Given the description of an element on the screen output the (x, y) to click on. 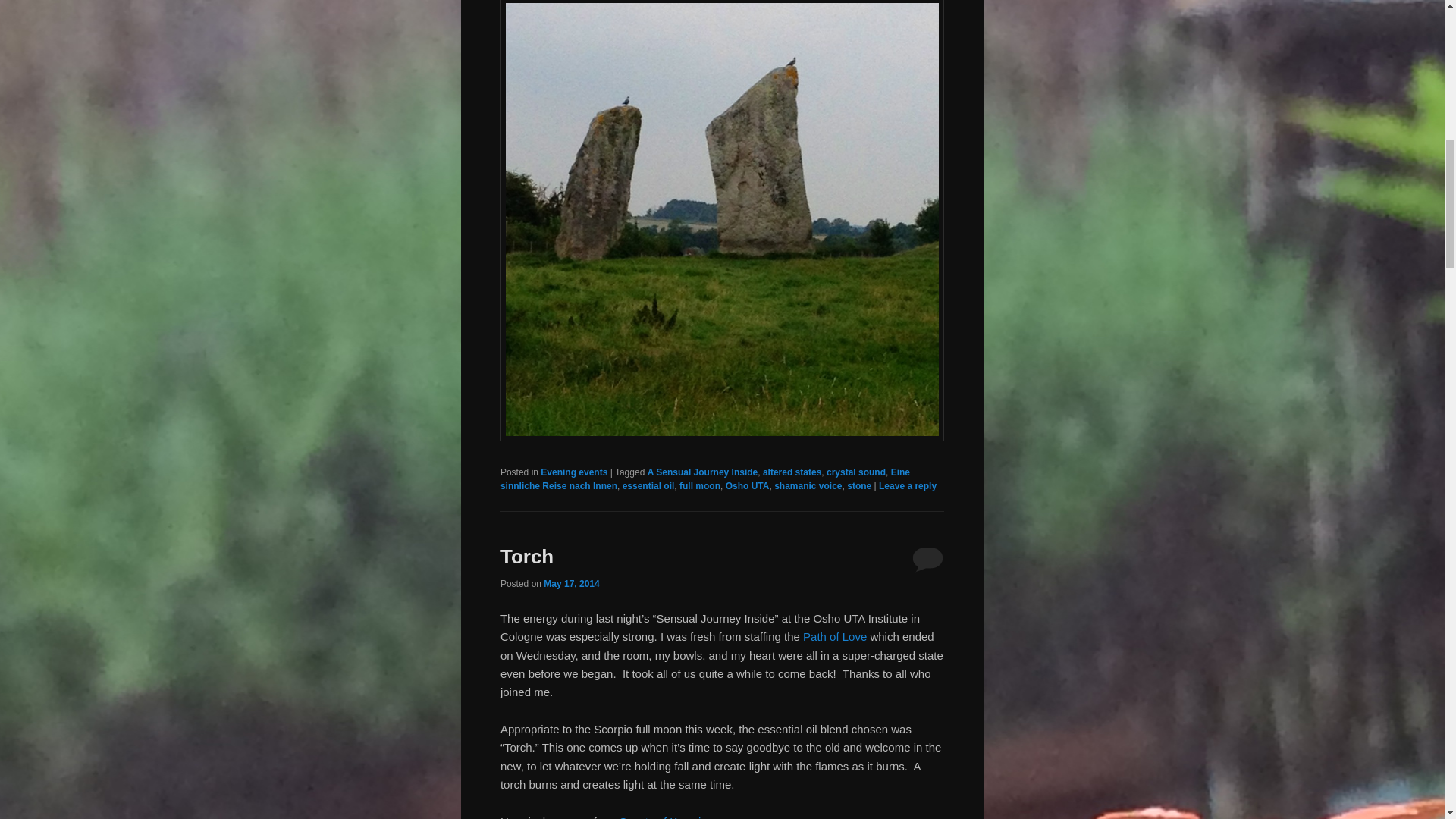
altered states (791, 471)
A Sensual Journey Inside (702, 471)
Torch (526, 556)
Osho UTA (747, 485)
Scents of Knowing (666, 816)
crystal sound (856, 471)
Eine sinnliche Reise nach Innen (705, 478)
Evening events (573, 471)
21:04 (570, 583)
essential oil (649, 485)
